Given the description of an element on the screen output the (x, y) to click on. 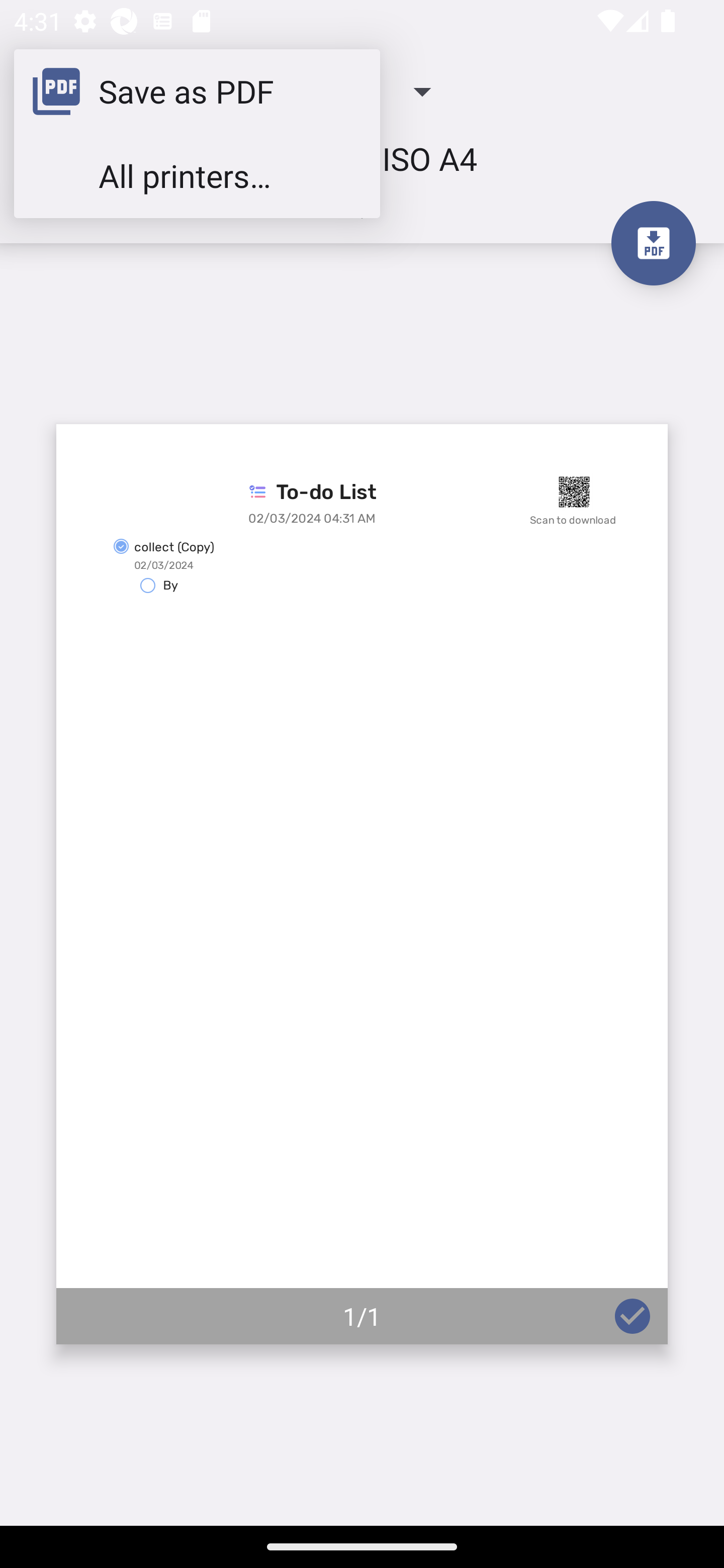
Save as PDF (196, 90)
All printers… (196, 175)
